Given the description of an element on the screen output the (x, y) to click on. 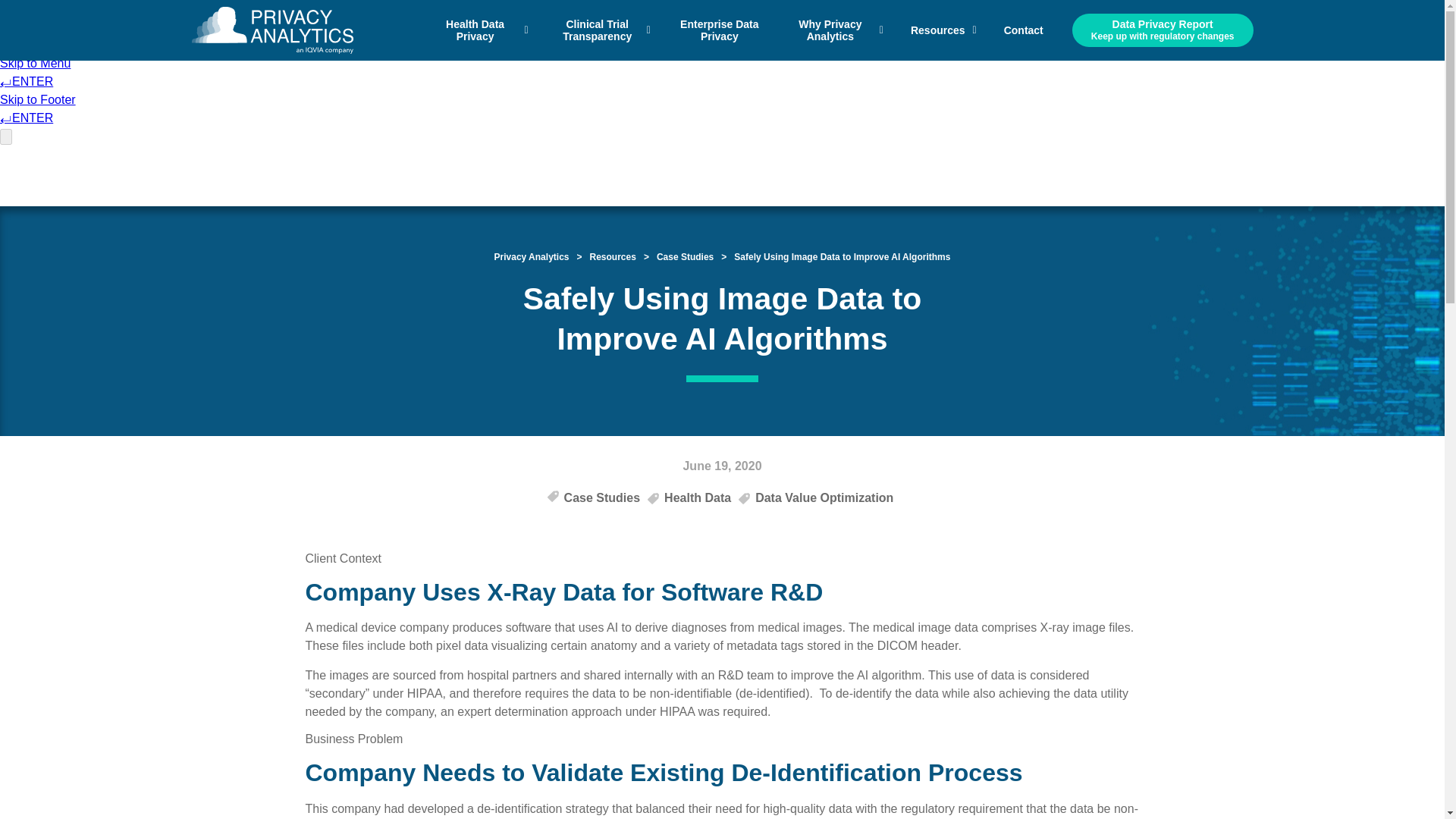
Health Data Privacy (480, 30)
Why Privacy Analytics (835, 30)
Clinical Trial Transparency (602, 30)
Enterprise Data Privacy (718, 30)
